Given the description of an element on the screen output the (x, y) to click on. 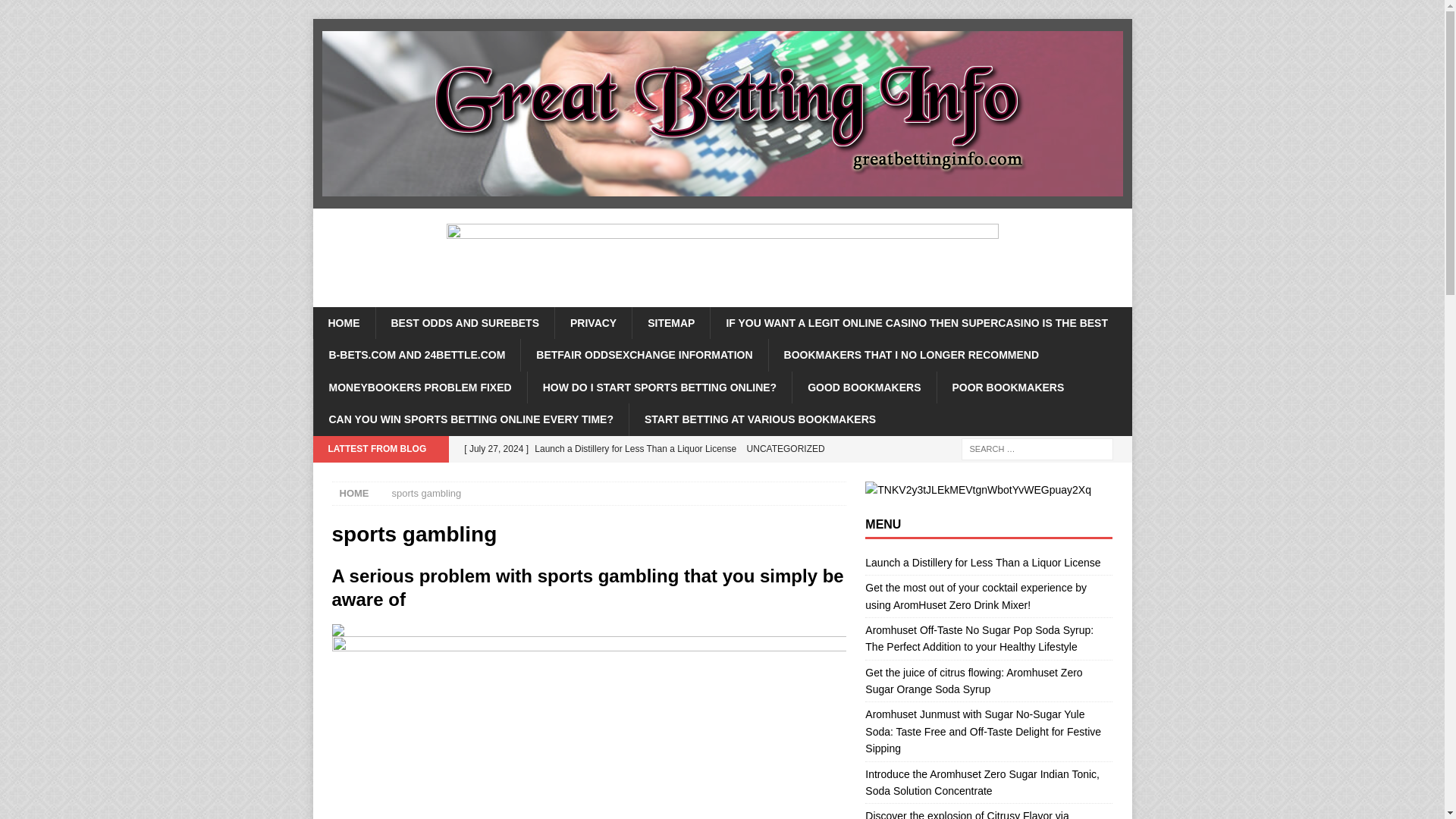
HOME (343, 323)
B-BETS.COM AND 24BETTLE.COM (416, 355)
GOOD BOOKMAKERS (864, 387)
Launch a Distillery for Less Than a Liquor License (649, 448)
Launch a Distillery for Less Than a Liquor License (982, 562)
PRIVACY (592, 323)
BOOKMAKERS THAT I NO LONGER RECOMMEND (911, 355)
HOME (354, 492)
Greatbettinginfo (722, 200)
